Given the description of an element on the screen output the (x, y) to click on. 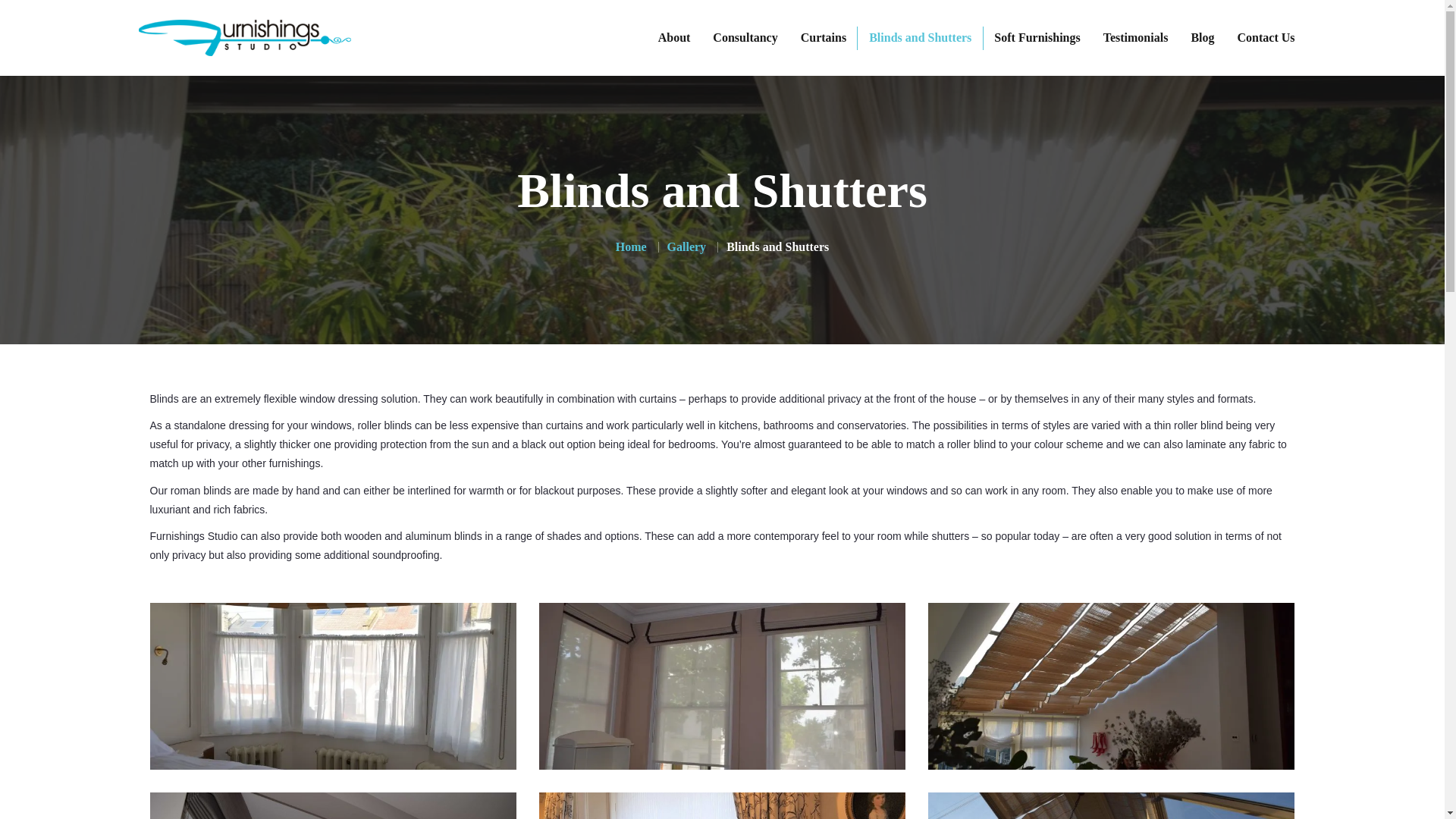
Curtains (823, 37)
Contact Us (1265, 37)
Go to Gallery. (686, 246)
Blinds and Shutters (919, 37)
About (556, 558)
About (673, 37)
Curtains (563, 586)
Blog (1202, 37)
Go to Home. (630, 246)
Testimonials (1135, 37)
Consultancy (745, 37)
Soft Furnishings (1036, 37)
Consultancy (756, 558)
Gallery (686, 246)
Home (630, 246)
